Given the description of an element on the screen output the (x, y) to click on. 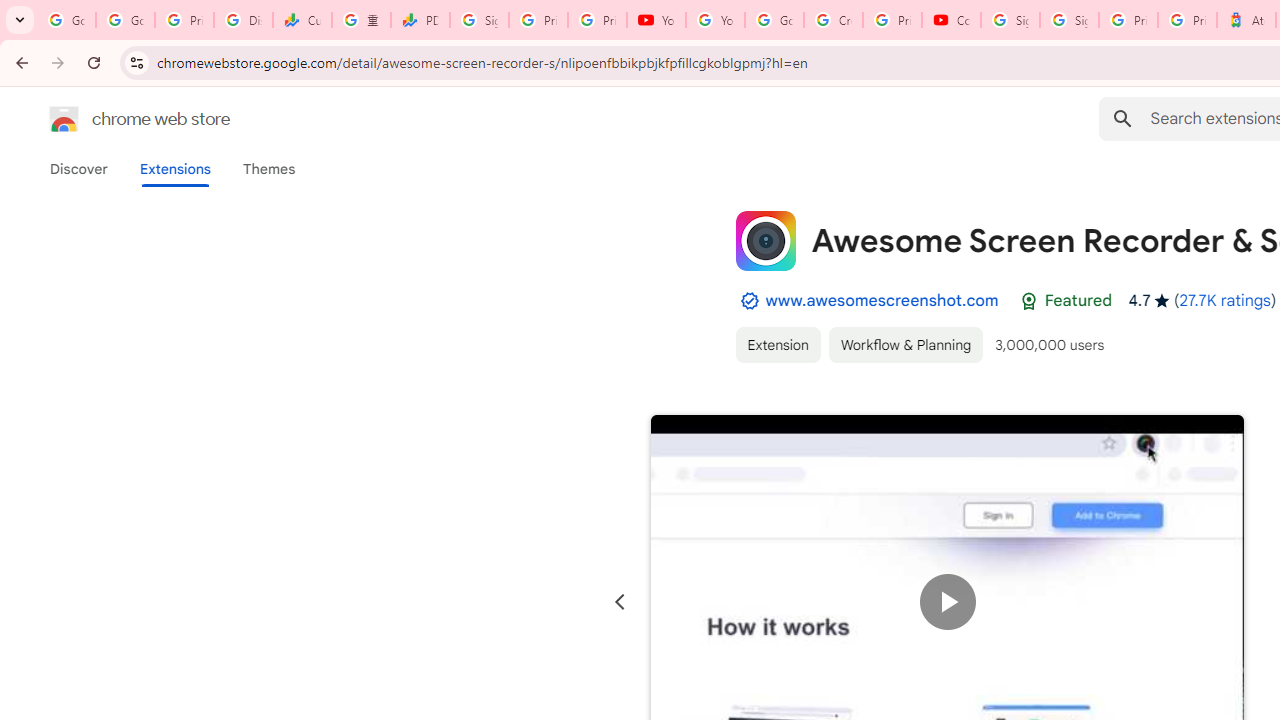
Google Workspace Admin Community (66, 20)
Chrome Web Store logo (63, 118)
YouTube (715, 20)
YouTube (656, 20)
27.7K ratings (1224, 300)
Workflow & Planning (906, 344)
Extension (777, 344)
